Given the description of an element on the screen output the (x, y) to click on. 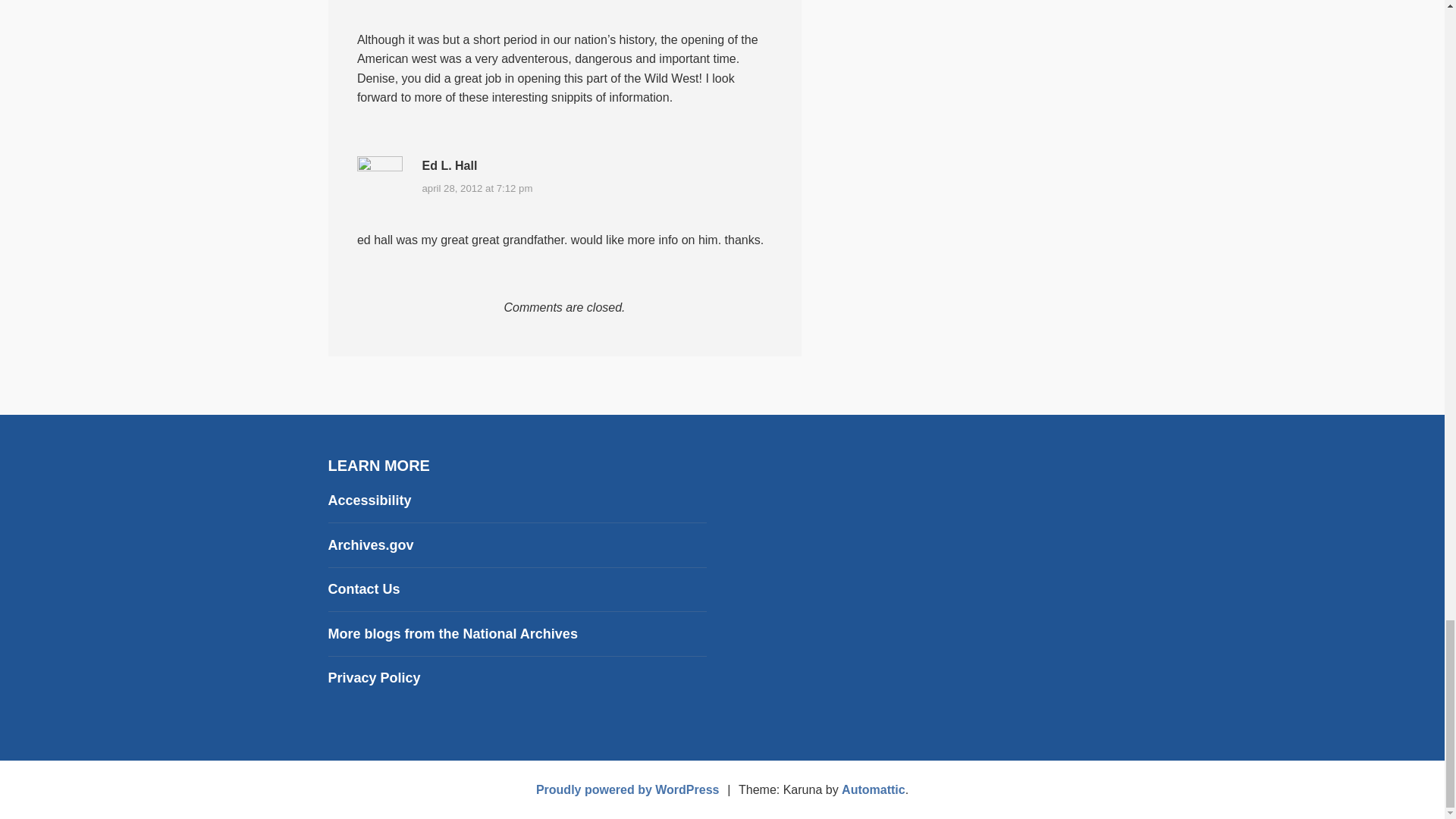
Accessibility information on archives.gov (368, 500)
U.S. National Archives Blogroll (451, 633)
april 28, 2012 at 7:12 pm (477, 188)
Contact information (362, 589)
National Archives privacy policy (373, 677)
